Given the description of an element on the screen output the (x, y) to click on. 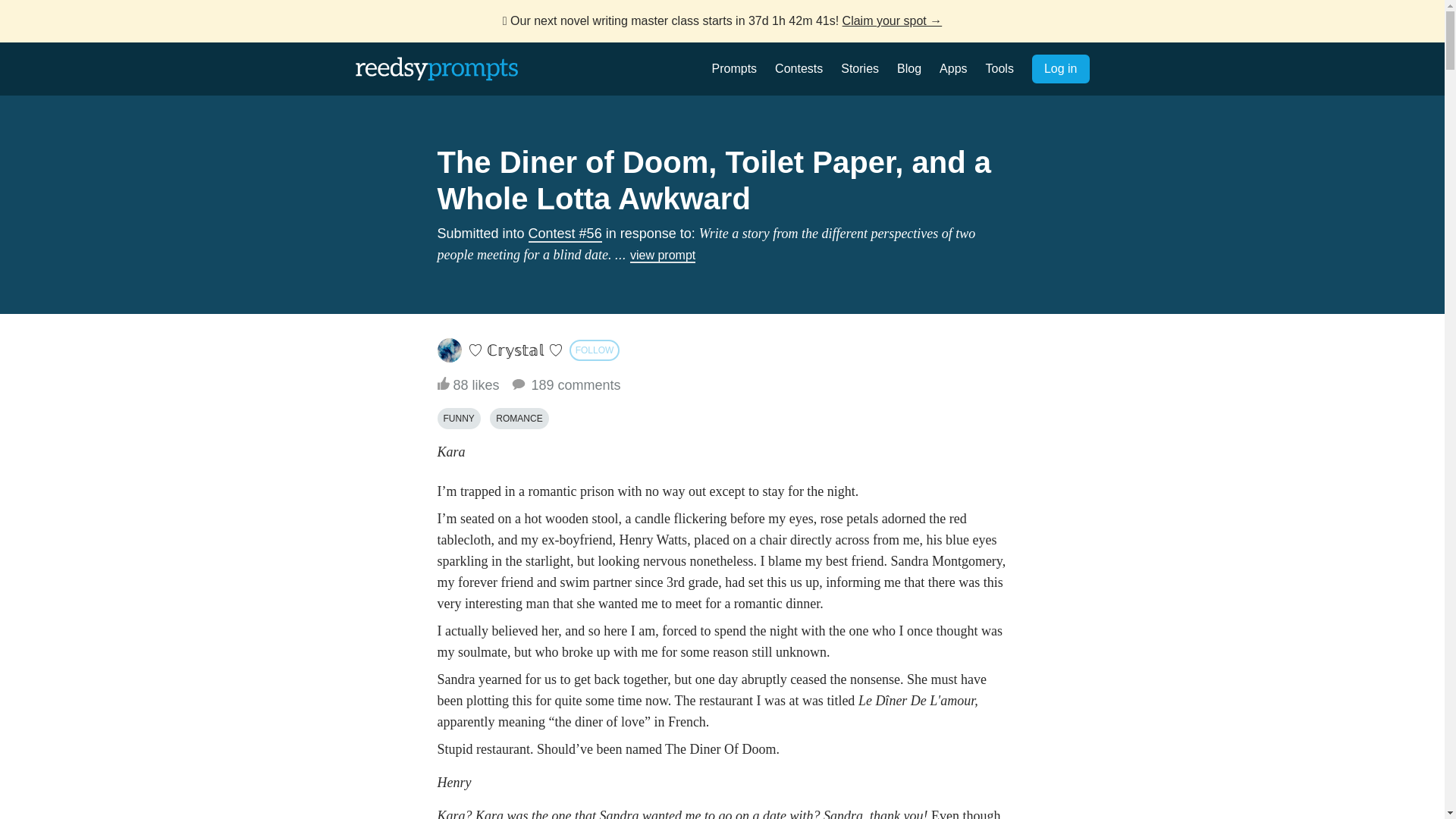
Contests (798, 68)
Stories (860, 68)
Prompts (734, 68)
Tools (999, 68)
189 comments (565, 385)
Blog (908, 68)
Log in (1060, 68)
Apps (952, 68)
